Given the description of an element on the screen output the (x, y) to click on. 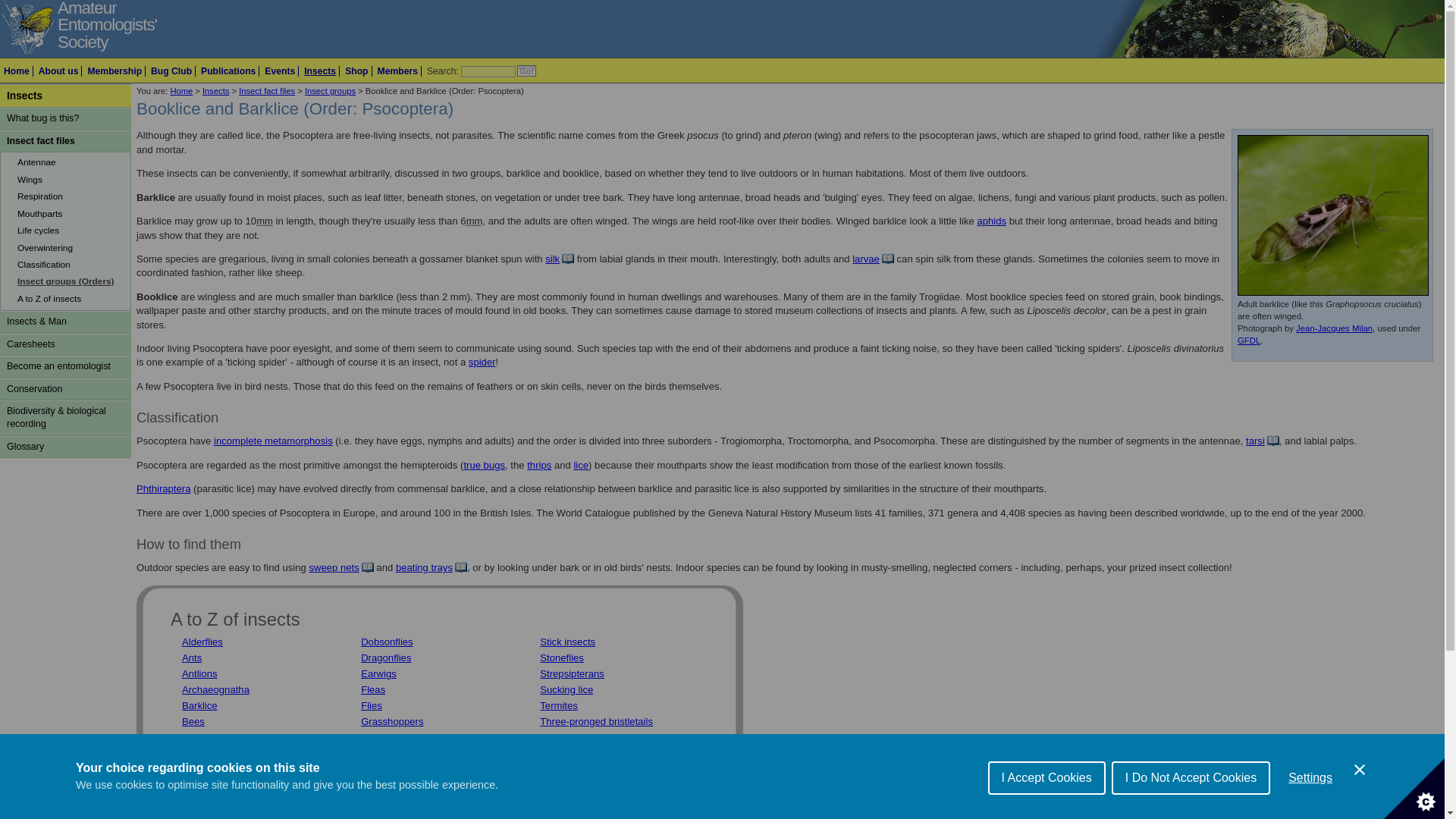
Classification (66, 262)
Membership (114, 71)
Conservation (65, 389)
Overwintering (66, 246)
Caresheets (65, 344)
About us (58, 71)
Look up 'beating tray' in the Entomologists' Glossary (431, 567)
Wings (66, 177)
millimetre (474, 220)
Amateur Entomologists' Society home page (107, 25)
Antennae (66, 160)
Glossary (65, 446)
Insects (320, 71)
Home (16, 71)
Home (181, 90)
